Given the description of an element on the screen output the (x, y) to click on. 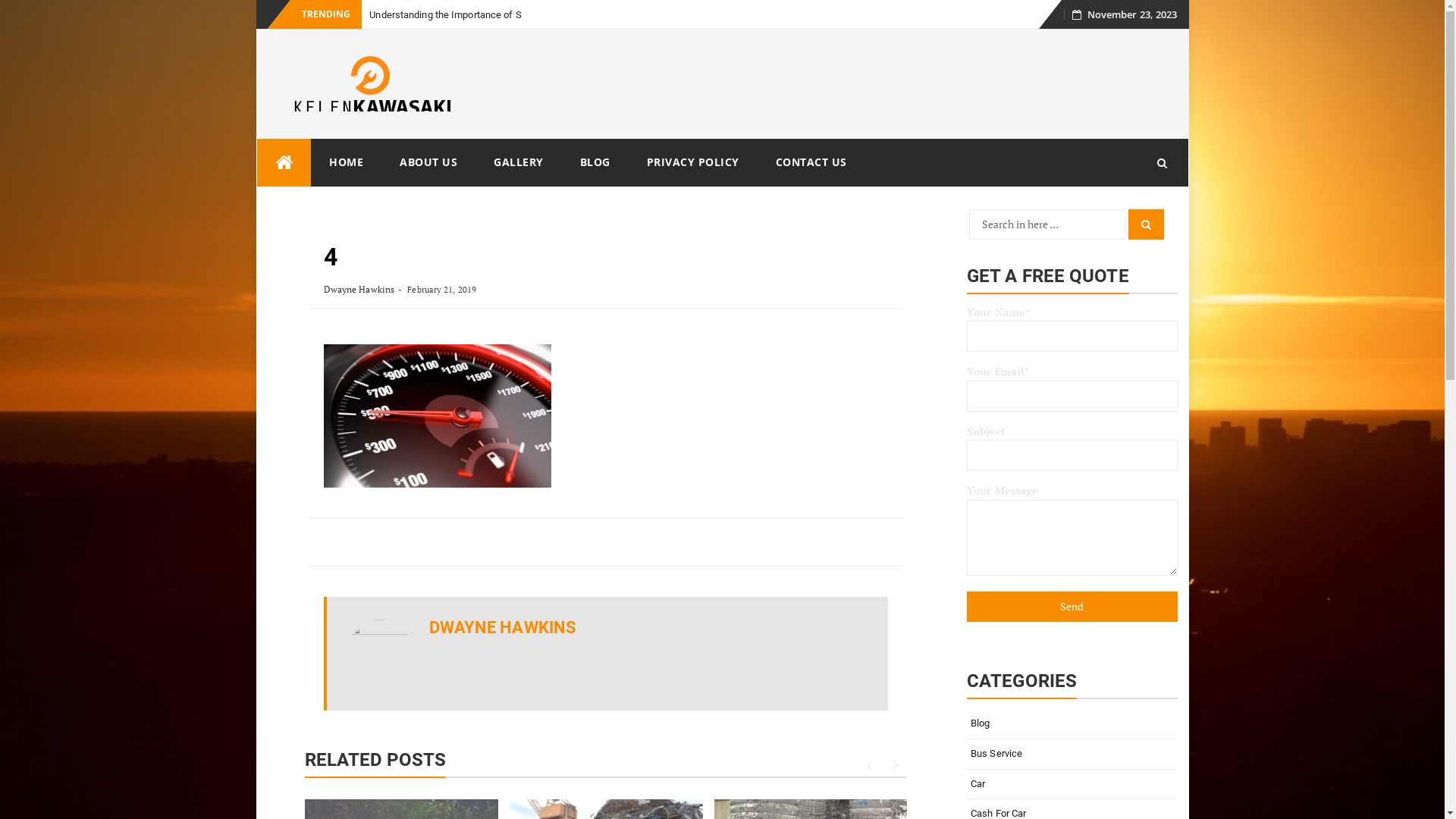
Car Element type: text (1071, 784)
Skip to content Element type: text (256, 138)
Send Element type: text (1071, 606)
Kelenkawasaki Element type: hover (283, 162)
BLOG Element type: text (594, 161)
Bus Service Element type: text (1071, 753)
GALLERY Element type: text (518, 161)
Blog Element type: text (1071, 723)
Search Element type: text (1146, 224)
HOME Element type: text (345, 161)
Skip to content Element type: text (1053, 17)
ABOUT US Element type: text (428, 161)
Dwayne Hawkins Element type: text (358, 288)
PRIVACY POLICY Element type: text (691, 161)
Search for: Element type: hover (1047, 224)
DWAYNE HAWKINS Element type: text (502, 627)
CONTACT US Element type: text (810, 161)
